Given the description of an element on the screen output the (x, y) to click on. 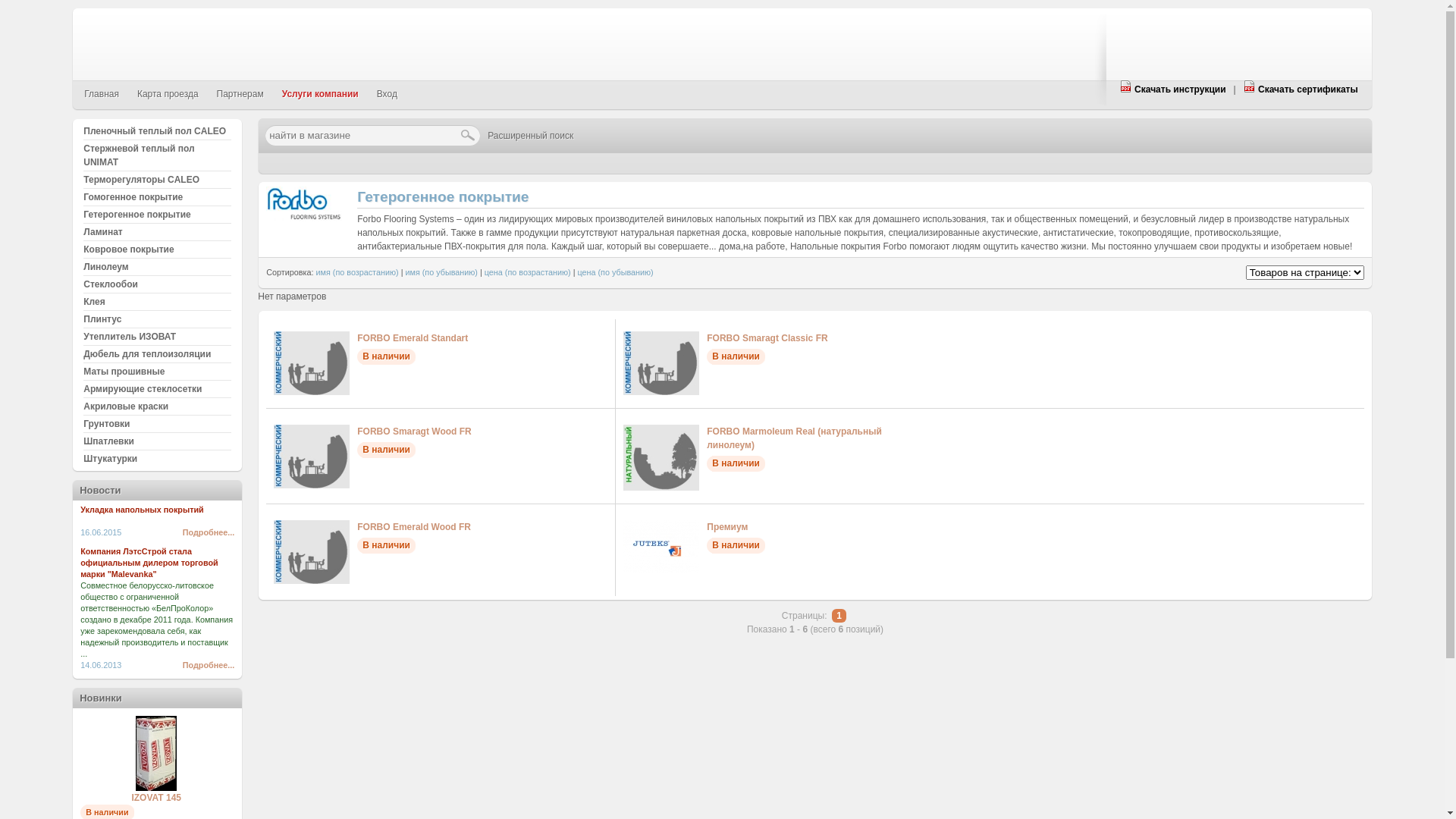
IZOVAT 145 Element type: hover (155, 787)
FORBO Smaragt Wood FR Element type: hover (311, 485)
FORBO Emerald Wood FR Element type: text (413, 526)
FORBO Emerald Standart Element type: text (412, 337)
FORBO Smaragt Wood FR Element type: text (413, 431)
FORBO Smaragt Classic FR Element type: text (766, 337)
FORBO Smaragt Classic FR Element type: hover (661, 391)
FORBO Emerald Standart Element type: hover (311, 391)
FORBO Emerald Wood FR Element type: hover (311, 580)
IZOVAT 145 Element type: text (156, 797)
